Given the description of an element on the screen output the (x, y) to click on. 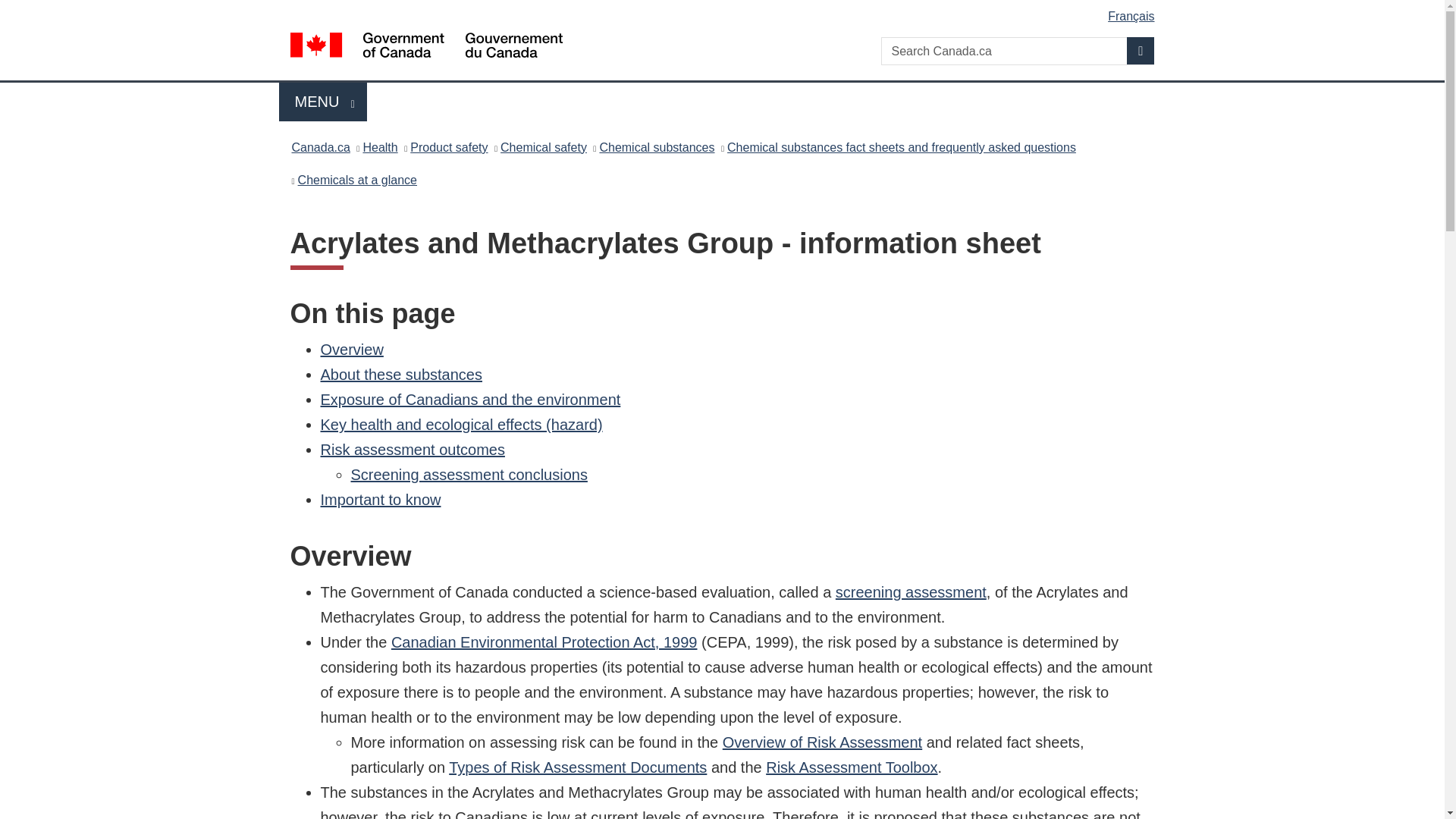
Chemical substances (656, 147)
Risk Assessment Toolbox (851, 767)
Types of Risk Assessment Documents (577, 767)
Risk assessment outcomes (411, 449)
Important to know (380, 499)
About these substances (400, 374)
screening assessment (911, 591)
Exposure of Canadians and the environment (470, 399)
Overview of Risk Assessment (821, 742)
Chemicals at a glance (357, 179)
